Given the description of an element on the screen output the (x, y) to click on. 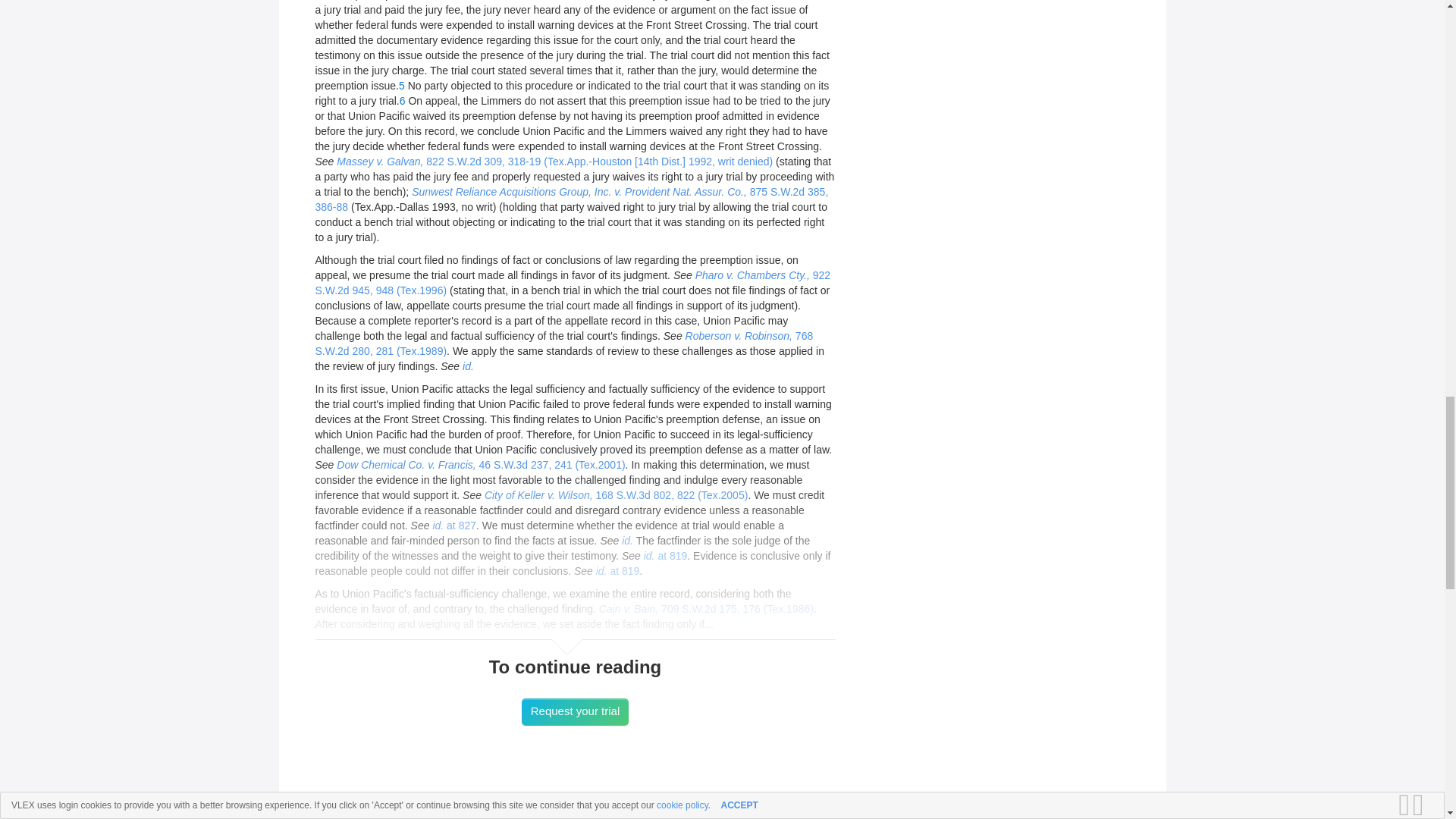
id. at 819 (617, 570)
id. at 827 (454, 524)
id. (468, 365)
id. (627, 539)
id. at 819 (665, 554)
